Given the description of an element on the screen output the (x, y) to click on. 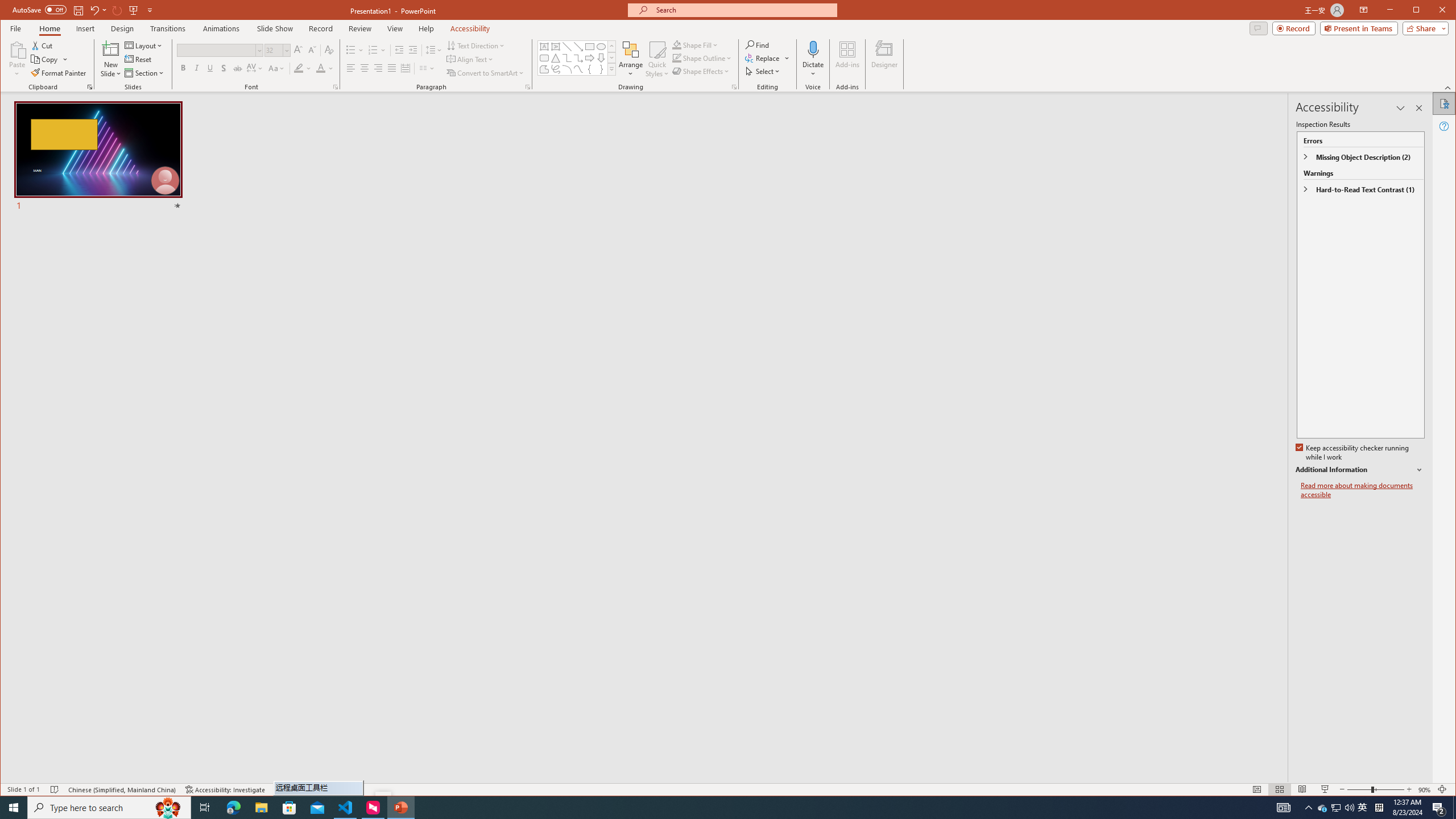
Zoom 90% (1424, 789)
